Given the description of an element on the screen output the (x, y) to click on. 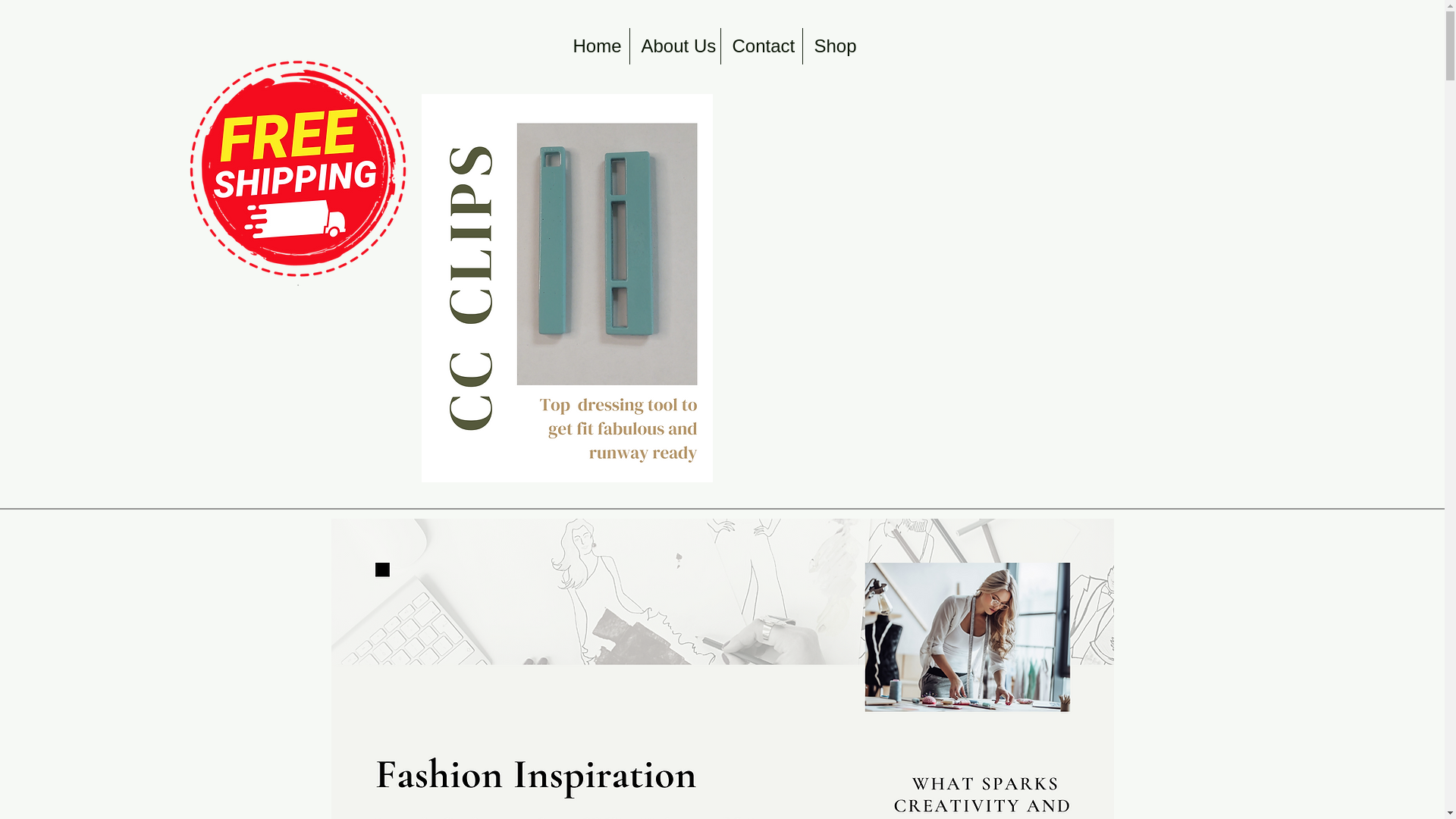
Shop (832, 45)
Home (594, 45)
Contact (761, 45)
About Us (673, 45)
